Given the description of an element on the screen output the (x, y) to click on. 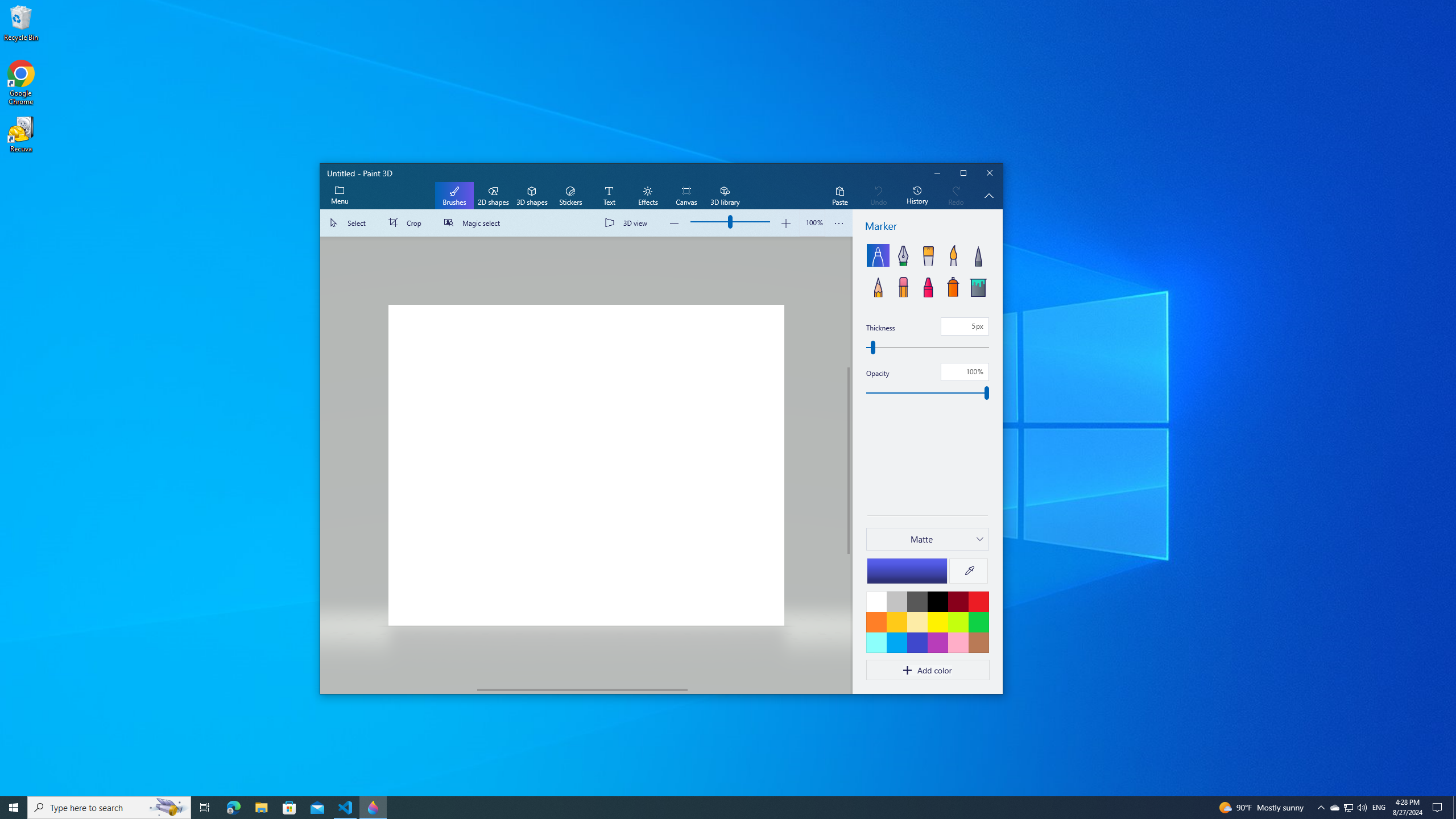
Brown (978, 642)
Eraser (902, 285)
Thickness, pixels (927, 347)
Horizontal Large Decrease (398, 689)
Spray can (952, 285)
Watercolor (952, 255)
Orange (876, 621)
Eyedropper (968, 570)
3D shapes (531, 195)
